Given the description of an element on the screen output the (x, y) to click on. 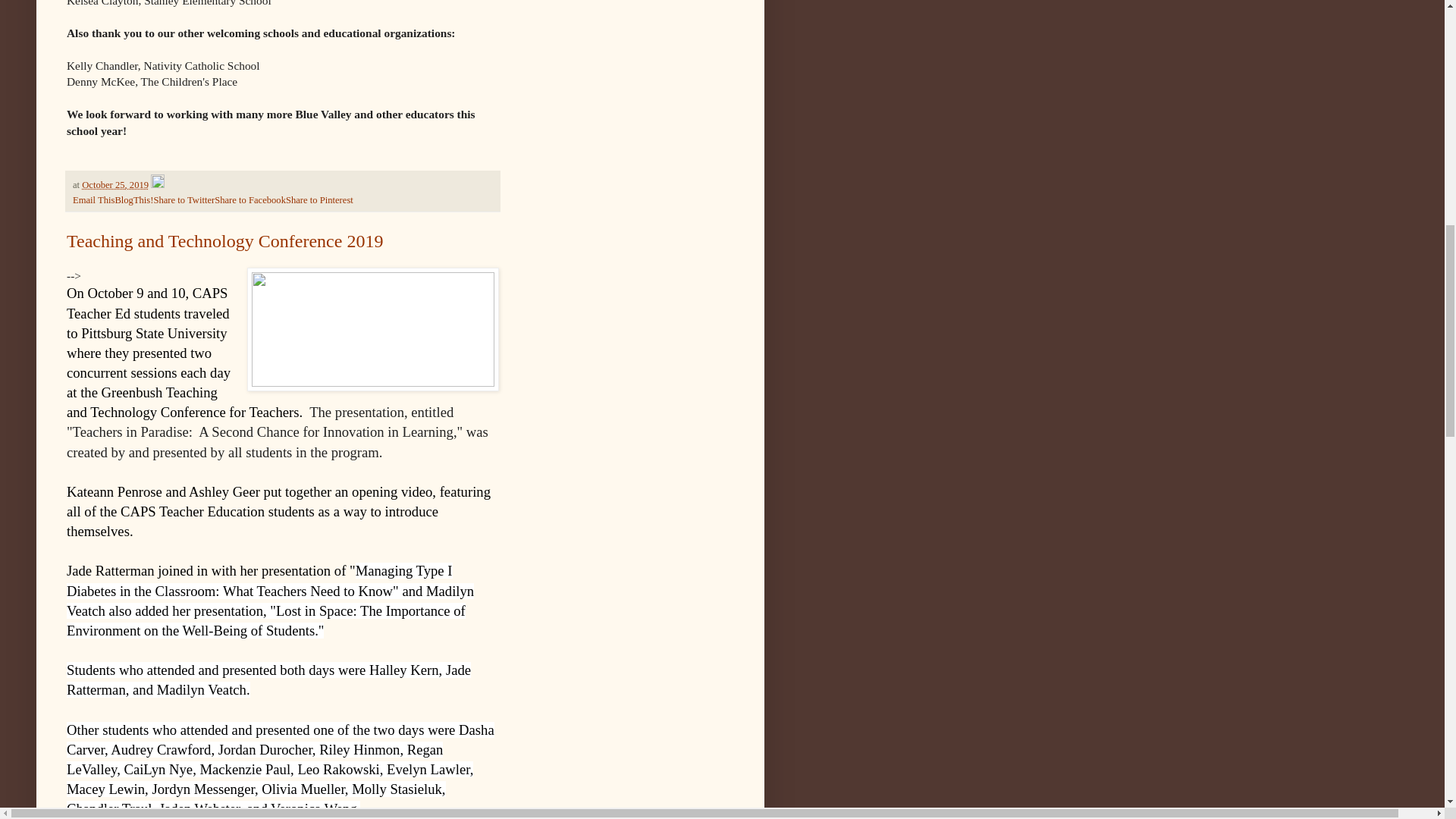
Share to Twitter (183, 199)
Email This (93, 199)
BlogThis! (133, 199)
Share to Facebook (249, 199)
October 25, 2019 (114, 184)
Share to Pinterest (319, 199)
Share to Facebook (249, 199)
BlogThis! (133, 199)
Email This (93, 199)
permanent link (114, 184)
